Given the description of an element on the screen output the (x, y) to click on. 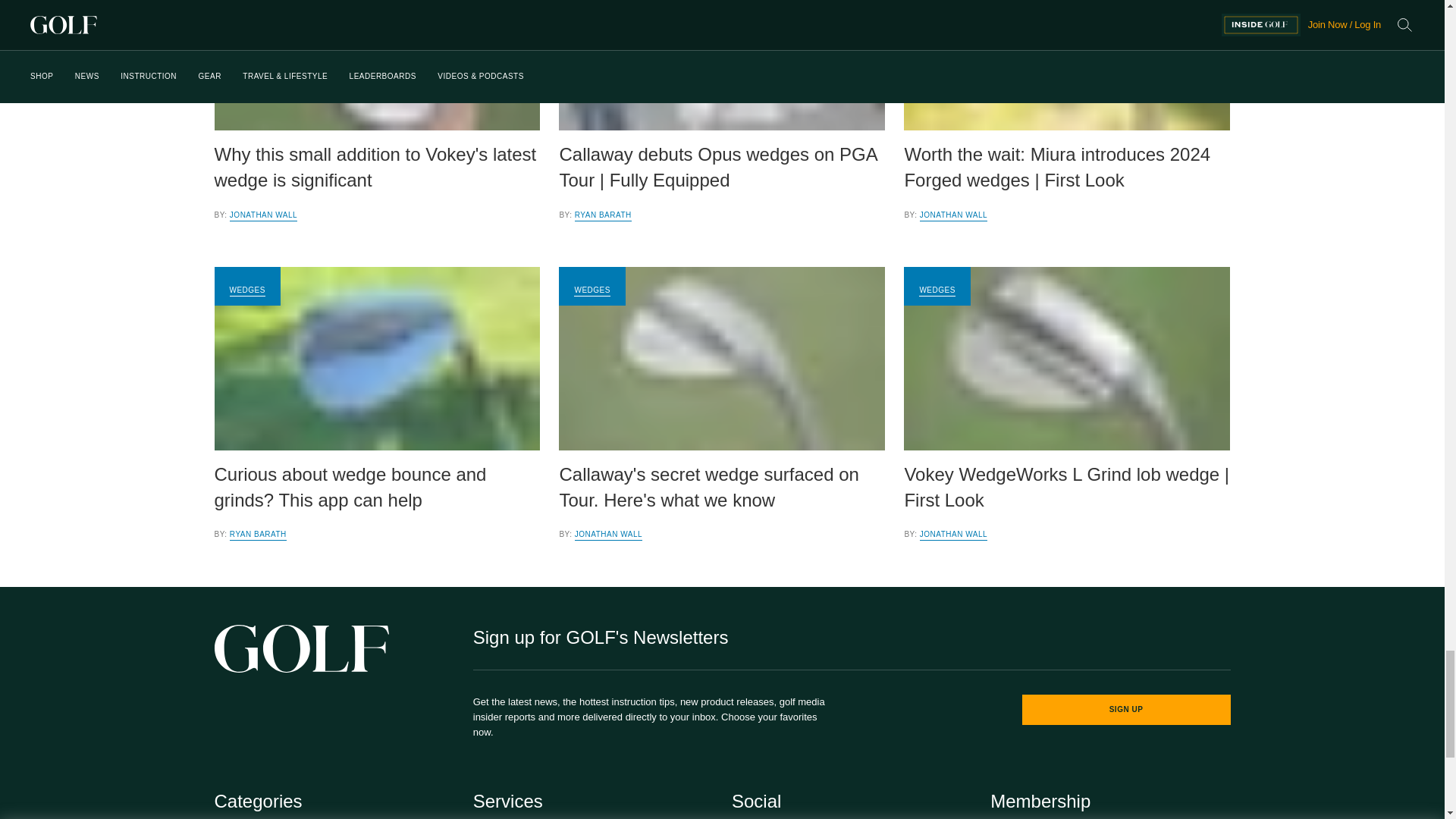
Golf logo. Back to home. (301, 648)
